Given the description of an element on the screen output the (x, y) to click on. 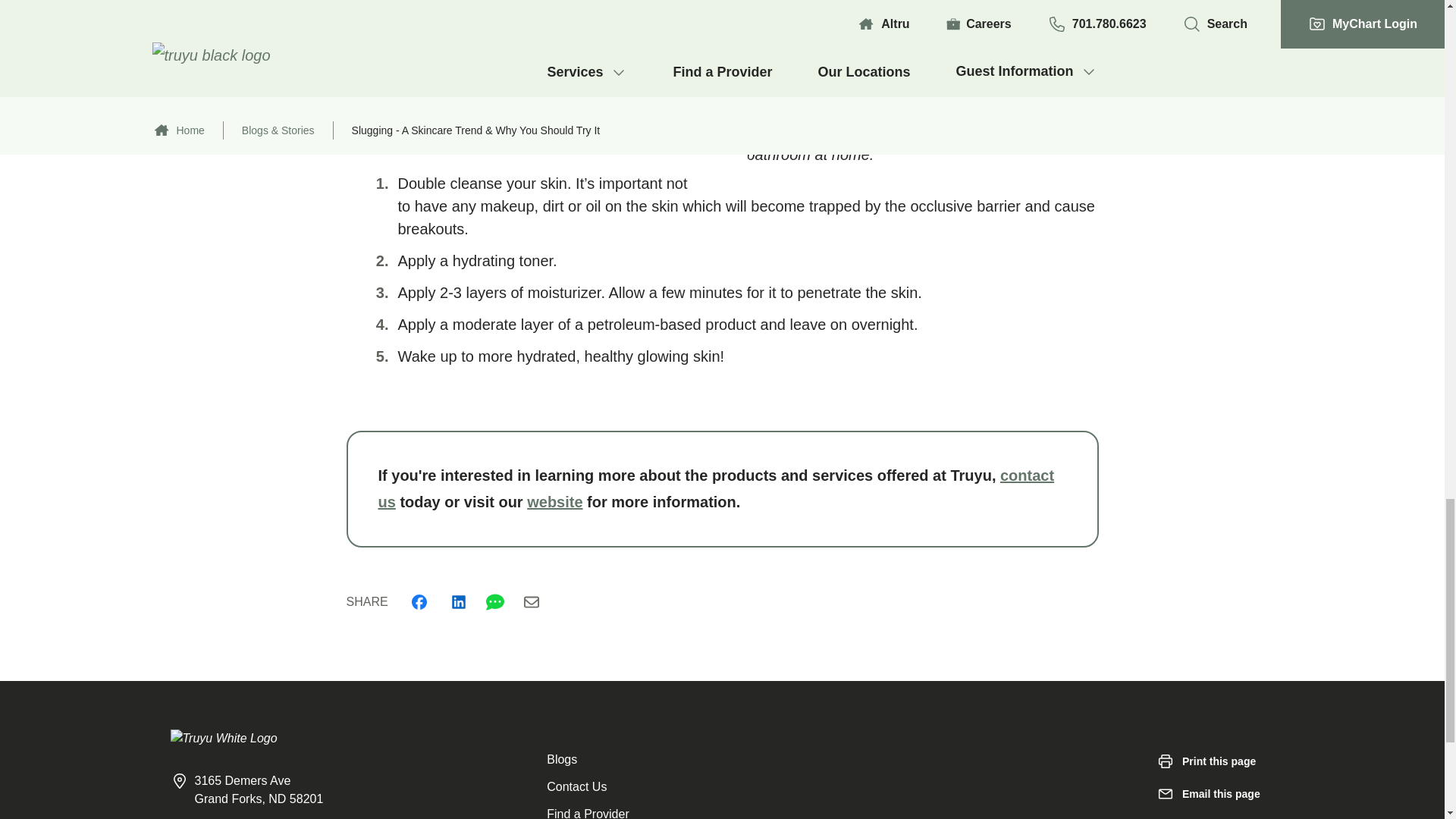
Vivier Lexxel (388, 32)
Email (530, 601)
location (736, 76)
Truyu Aesthetic Center (736, 76)
Linkedin (457, 601)
Facebook (418, 601)
